Given the description of an element on the screen output the (x, y) to click on. 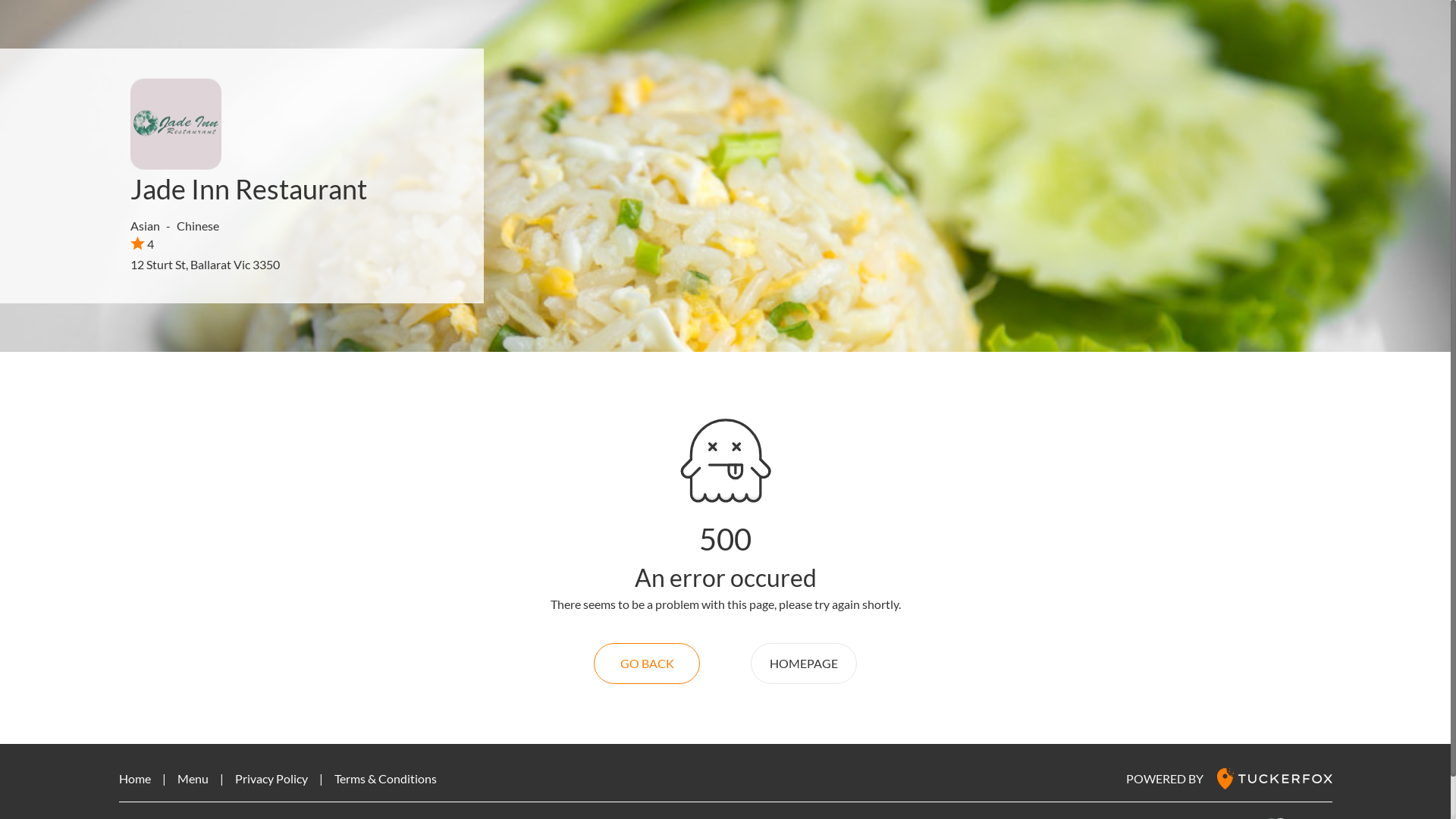
GO BACK Element type: text (646, 663)
Menu Element type: text (192, 778)
HOMEPAGE Element type: text (803, 663)
Terms & Conditions Element type: text (384, 778)
Jade Inn Restaurant Element type: text (248, 188)
4 Element type: text (141, 243)
Privacy Policy Element type: text (271, 778)
Home Element type: text (134, 778)
